Given the description of an element on the screen output the (x, y) to click on. 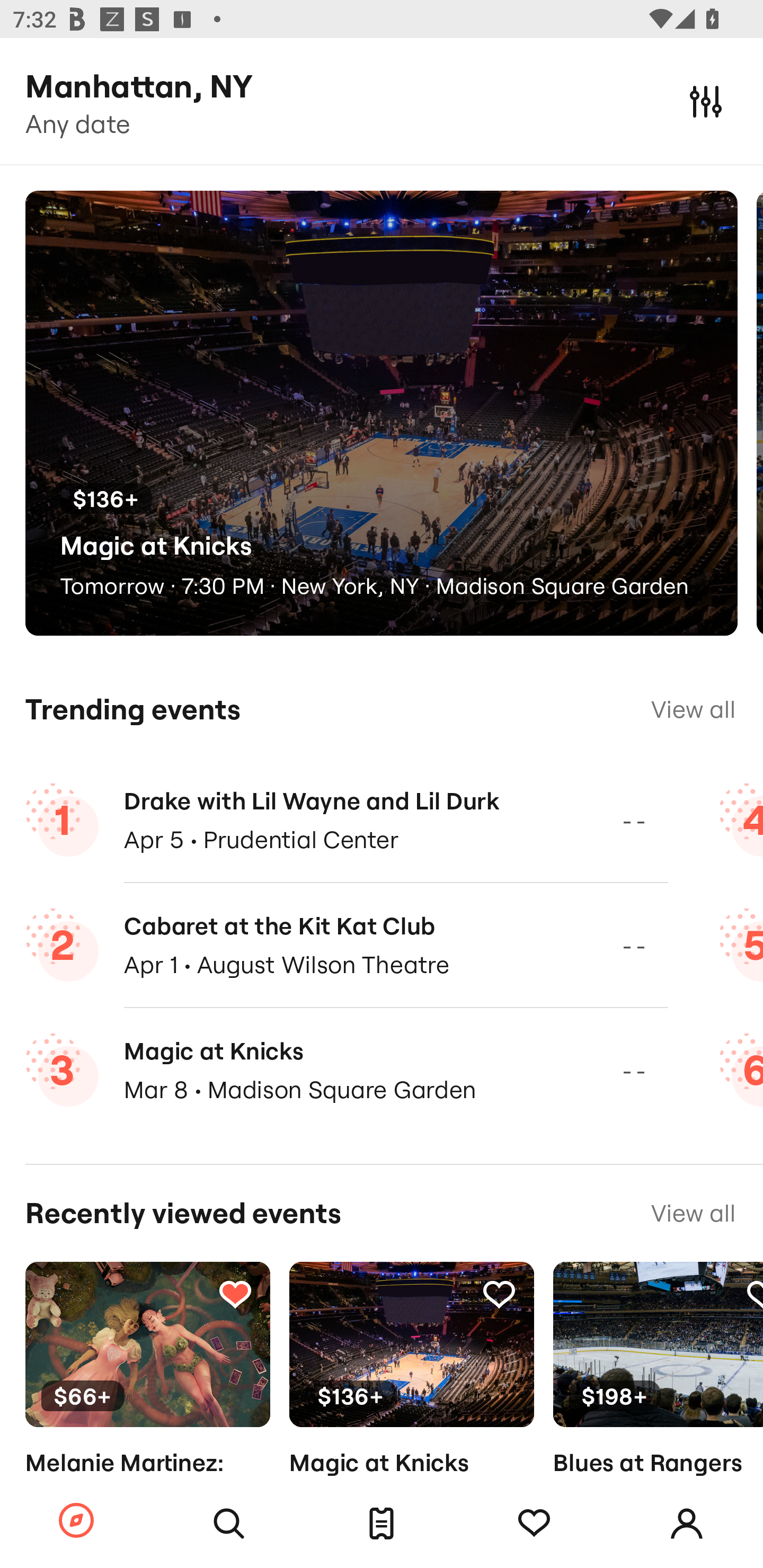
Close (705, 100)
View all (693, 709)
View all (693, 1213)
Tracking $136+ Magic at Knicks Tomorrow · 7:30 PM (411, 1399)
Tracking $198+ Blues at Rangers Sat, Mar 9, 7 PM (658, 1399)
Tracking (234, 1293)
Tracking (498, 1293)
Tracking (753, 1293)
Browse (76, 1521)
Search (228, 1523)
Tickets (381, 1523)
Tracking (533, 1523)
Account (686, 1523)
